Given the description of an element on the screen output the (x, y) to click on. 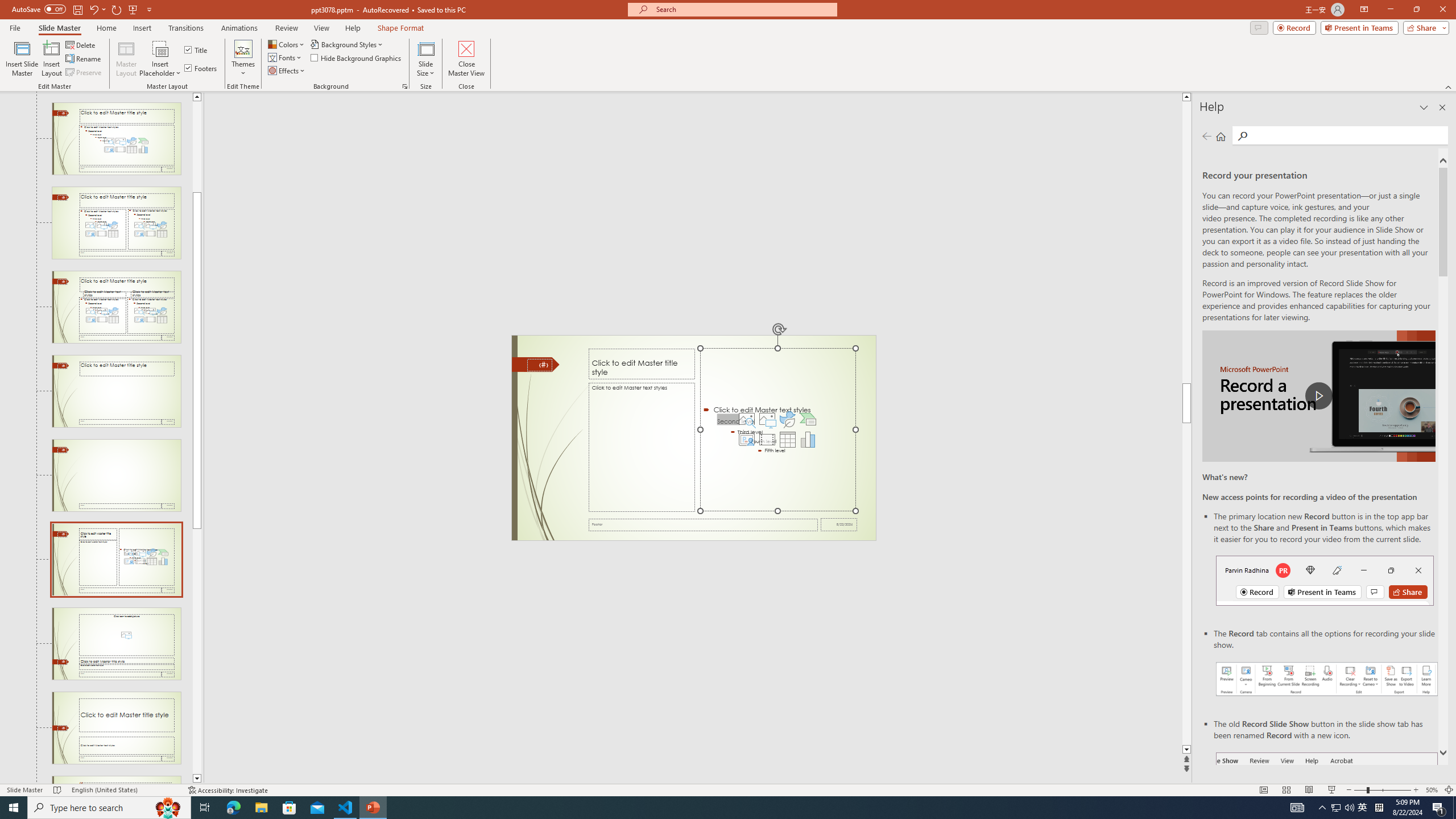
Insert Layout (51, 58)
Search (1347, 135)
Themes (243, 58)
Slide Comparison Layout: used by no slides (116, 307)
Home (1220, 136)
Insert Slide Master (21, 58)
Content (160, 48)
Zoom Out (1360, 790)
File Tab (15, 27)
Comments (1259, 27)
Previous page (1206, 136)
Fonts (285, 56)
Preserve (84, 72)
